Given the description of an element on the screen output the (x, y) to click on. 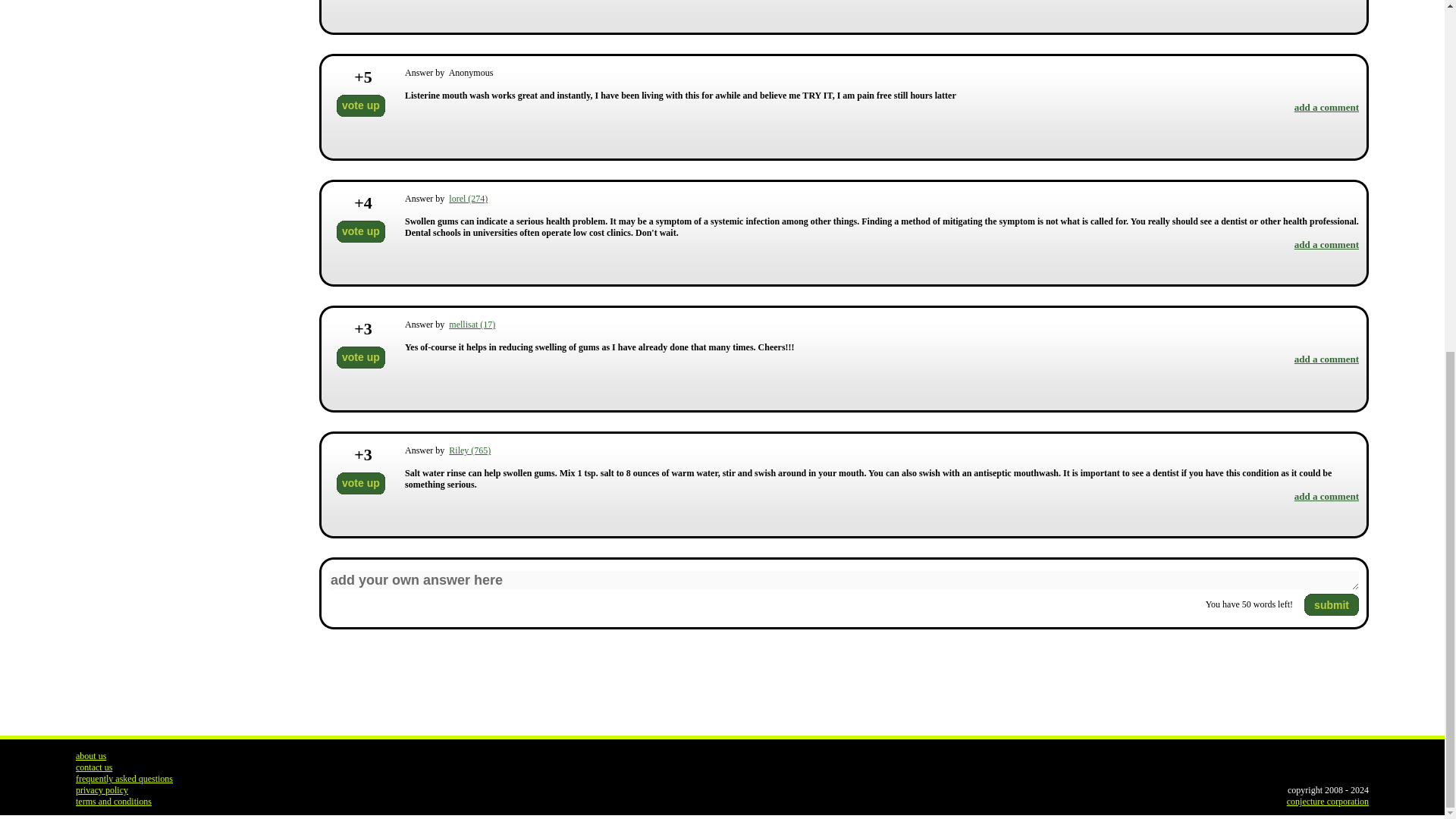
vote up (361, 231)
add a comment (1326, 107)
vote up (361, 106)
